Given the description of an element on the screen output the (x, y) to click on. 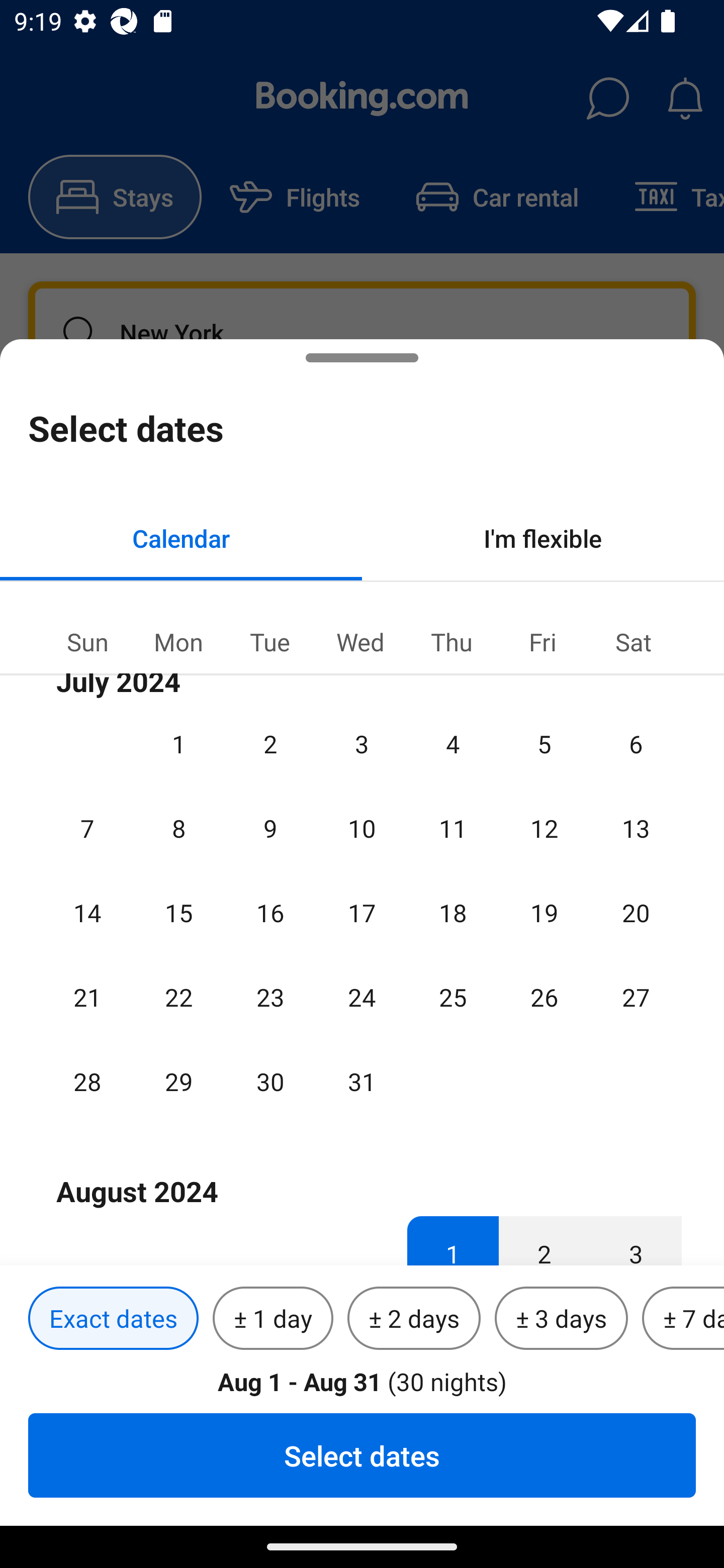
I'm flexible (543, 537)
Exact dates (113, 1318)
± 1 day (272, 1318)
± 2 days (413, 1318)
± 3 days (560, 1318)
± 7 days (683, 1318)
Select dates (361, 1454)
